Given the description of an element on the screen output the (x, y) to click on. 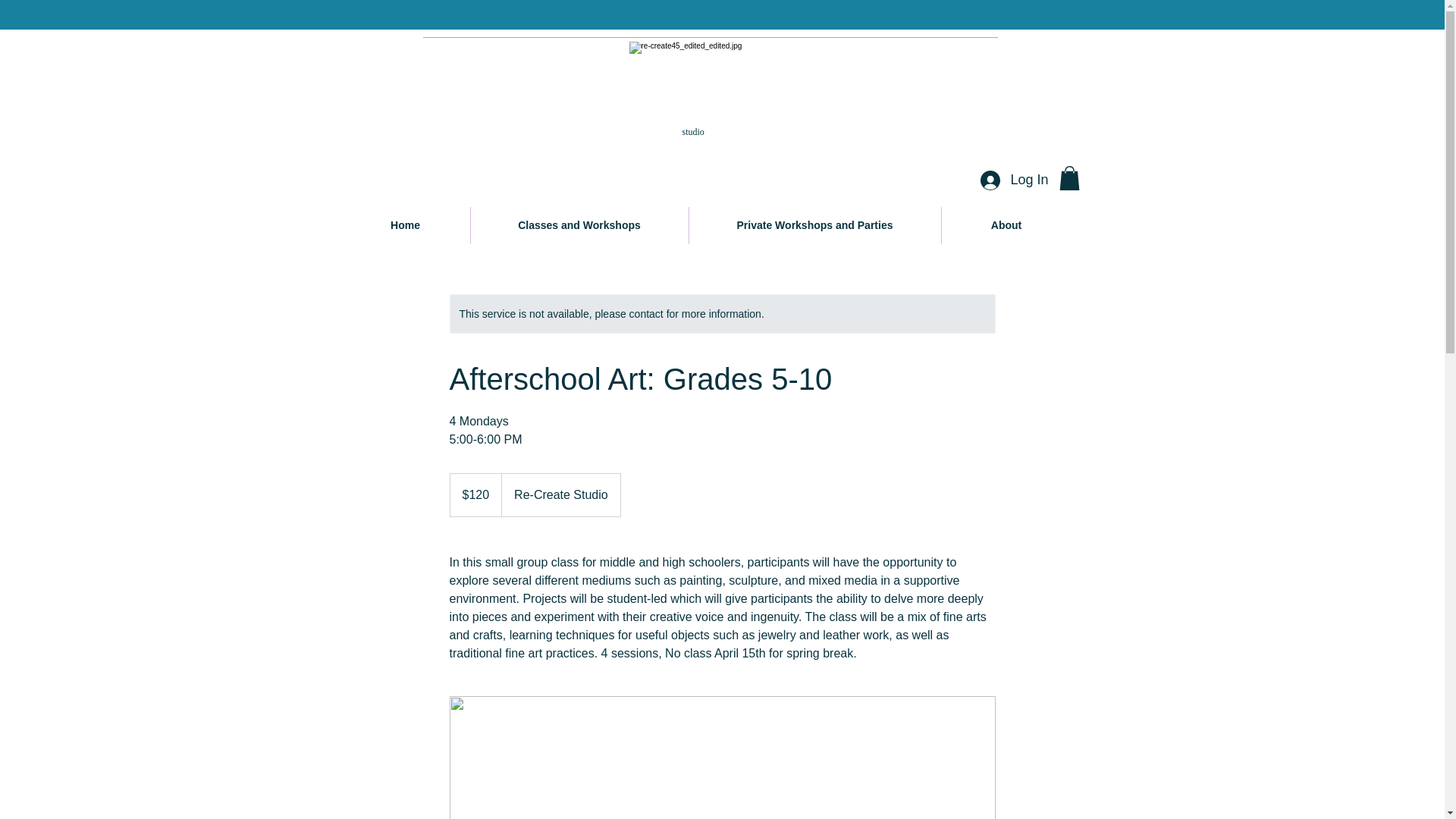
About (1006, 225)
Classes and Workshops (578, 225)
Log In (1013, 180)
Private Workshops and Parties (814, 225)
Home (405, 225)
